Given the description of an element on the screen output the (x, y) to click on. 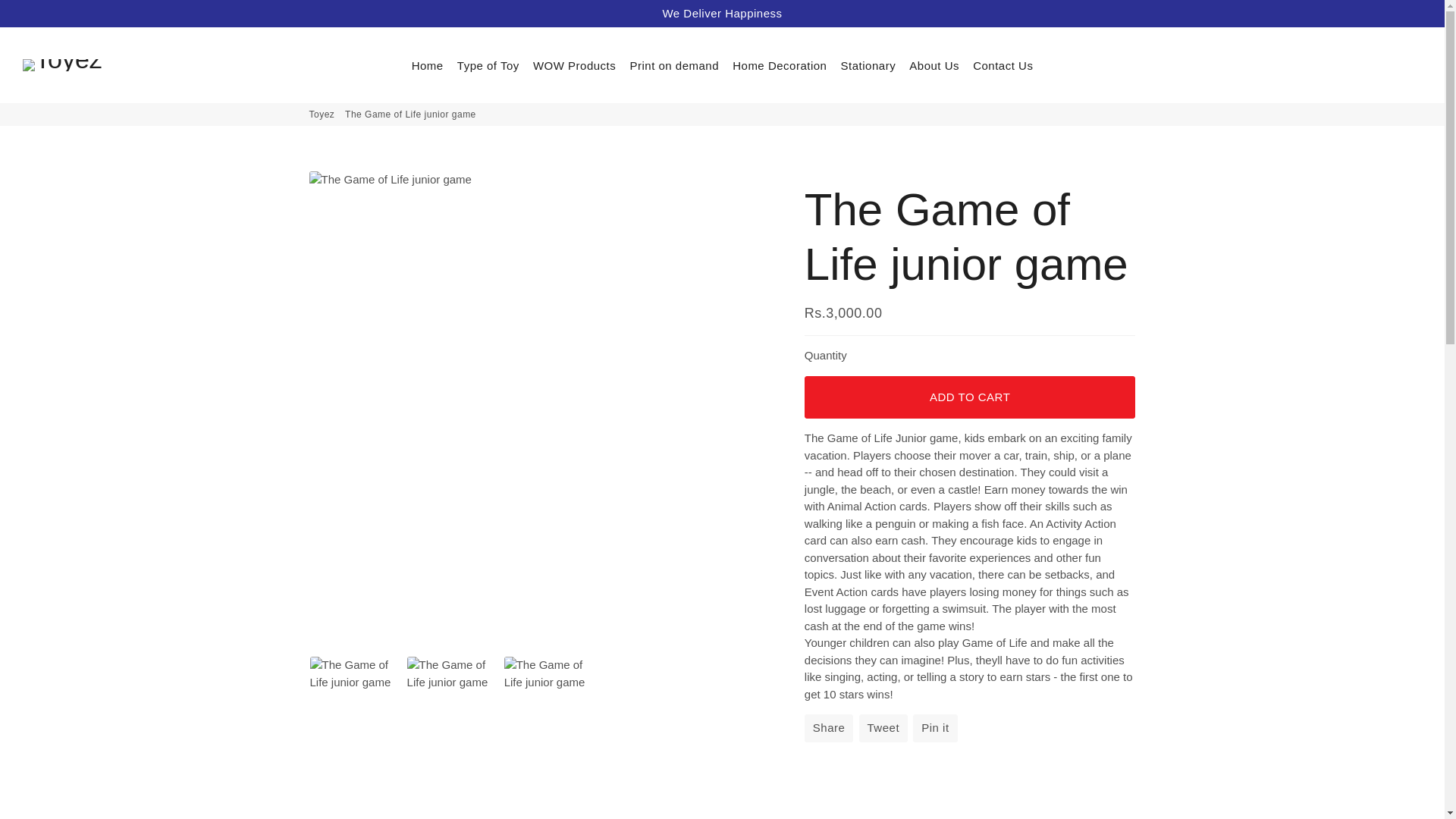
Share on Facebook (829, 728)
Pin on Pinterest (934, 728)
Tweet on Twitter (883, 728)
